Given the description of an element on the screen output the (x, y) to click on. 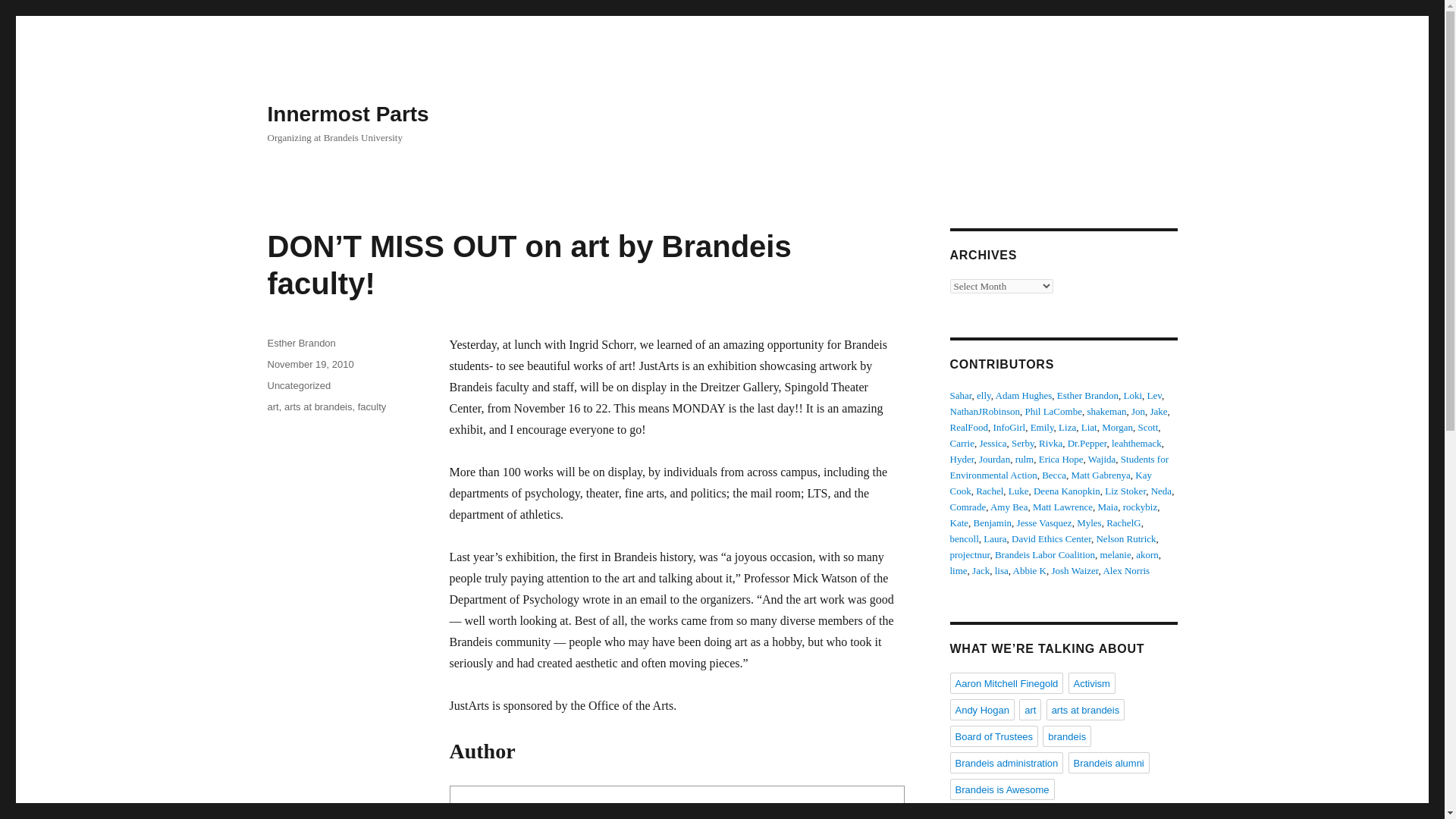
elly (983, 395)
Jake (1158, 410)
Sahar (960, 395)
Lev (1154, 395)
Phil LaCombe (1053, 410)
Esther Brandon (597, 814)
shakeman (1105, 410)
Adam Hughes (1023, 395)
Dr.Pepper (1086, 442)
Esther Brandon (1087, 395)
